Given the description of an element on the screen output the (x, y) to click on. 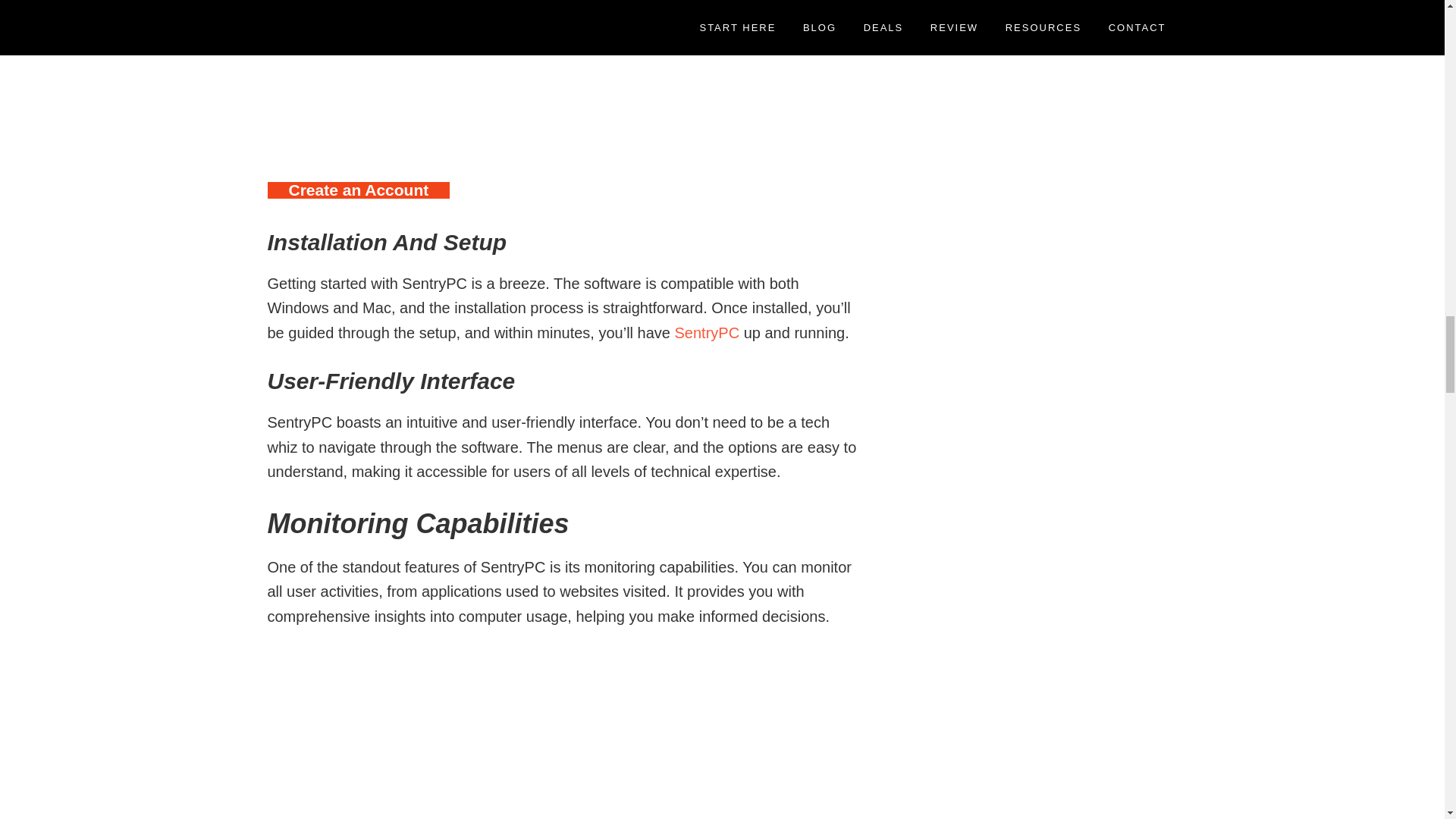
Create an Account (357, 190)
SentryPC (709, 332)
